Given the description of an element on the screen output the (x, y) to click on. 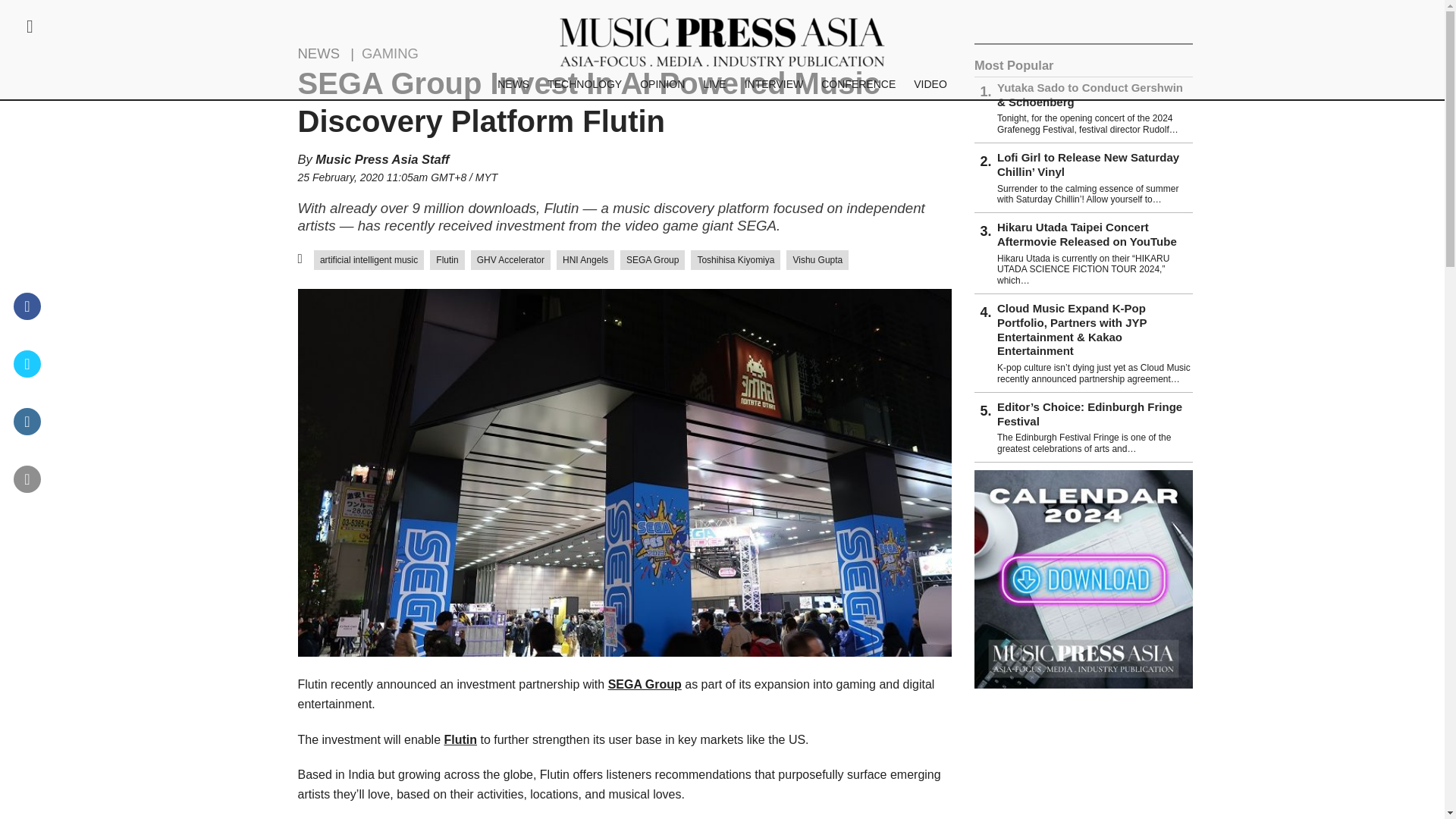
artificial intelligent music (368, 260)
NEWS (513, 83)
Music Press Asia Staff (381, 159)
View all posts tagged Vishu Gupta (817, 260)
View all posts tagged HNI Angels (585, 260)
GHV Accelerator (510, 260)
Search (94, 317)
View all posts tagged GHV Accelerator (510, 260)
View all posts tagged artificial intelligent music (368, 260)
Vishu Gupta (817, 260)
